Given the description of an element on the screen output the (x, y) to click on. 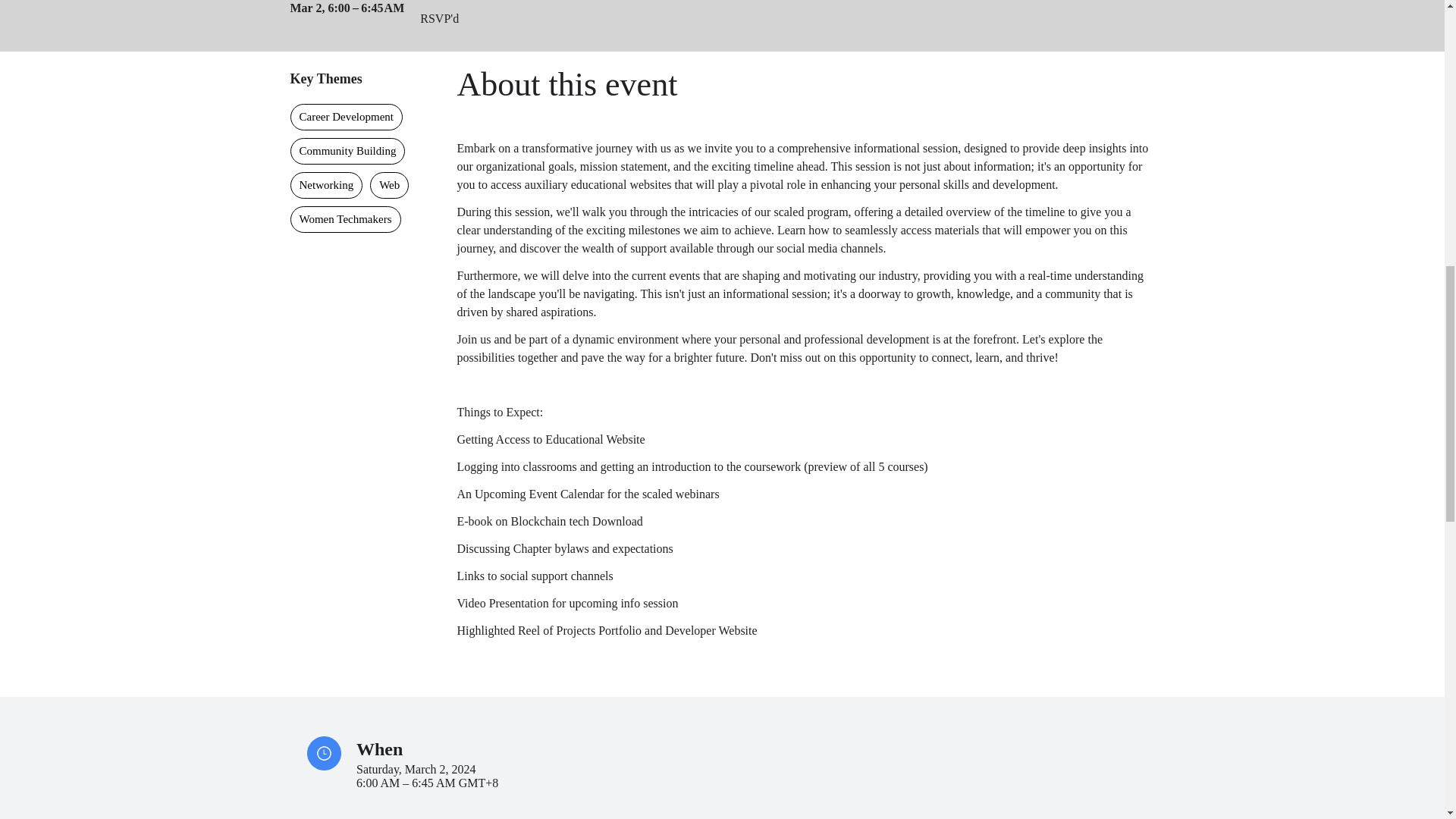
Web (389, 185)
Women Techmakers (344, 219)
Networking (325, 185)
Community Building (346, 151)
Career Development (346, 117)
